Given the description of an element on the screen output the (x, y) to click on. 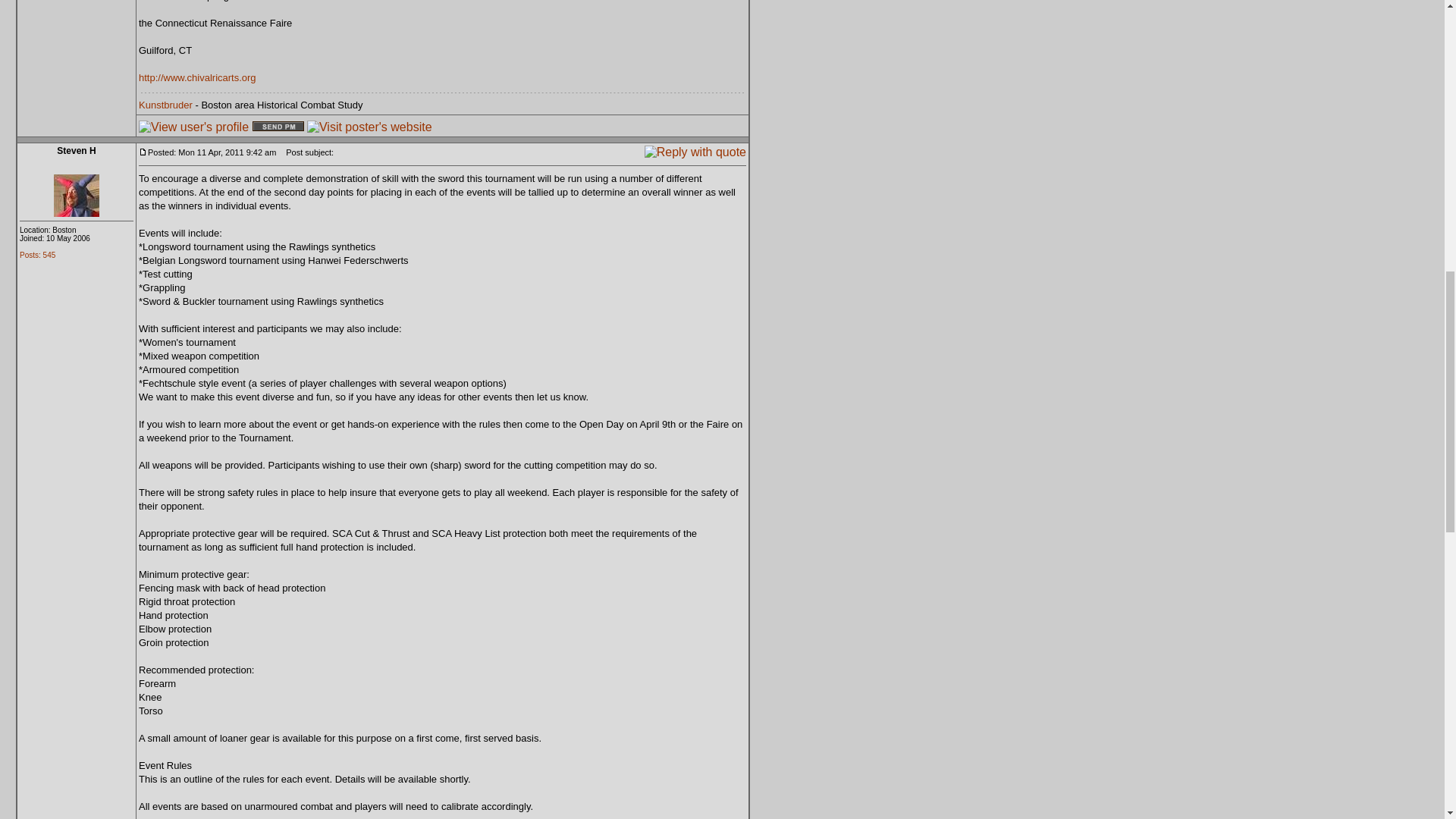
Posts: 545 (37, 254)
Kunstbruder (165, 103)
View user's profile (193, 126)
Send private message (276, 126)
Visit poster's website (369, 126)
Post (143, 151)
Reply with quote (695, 151)
